Given the description of an element on the screen output the (x, y) to click on. 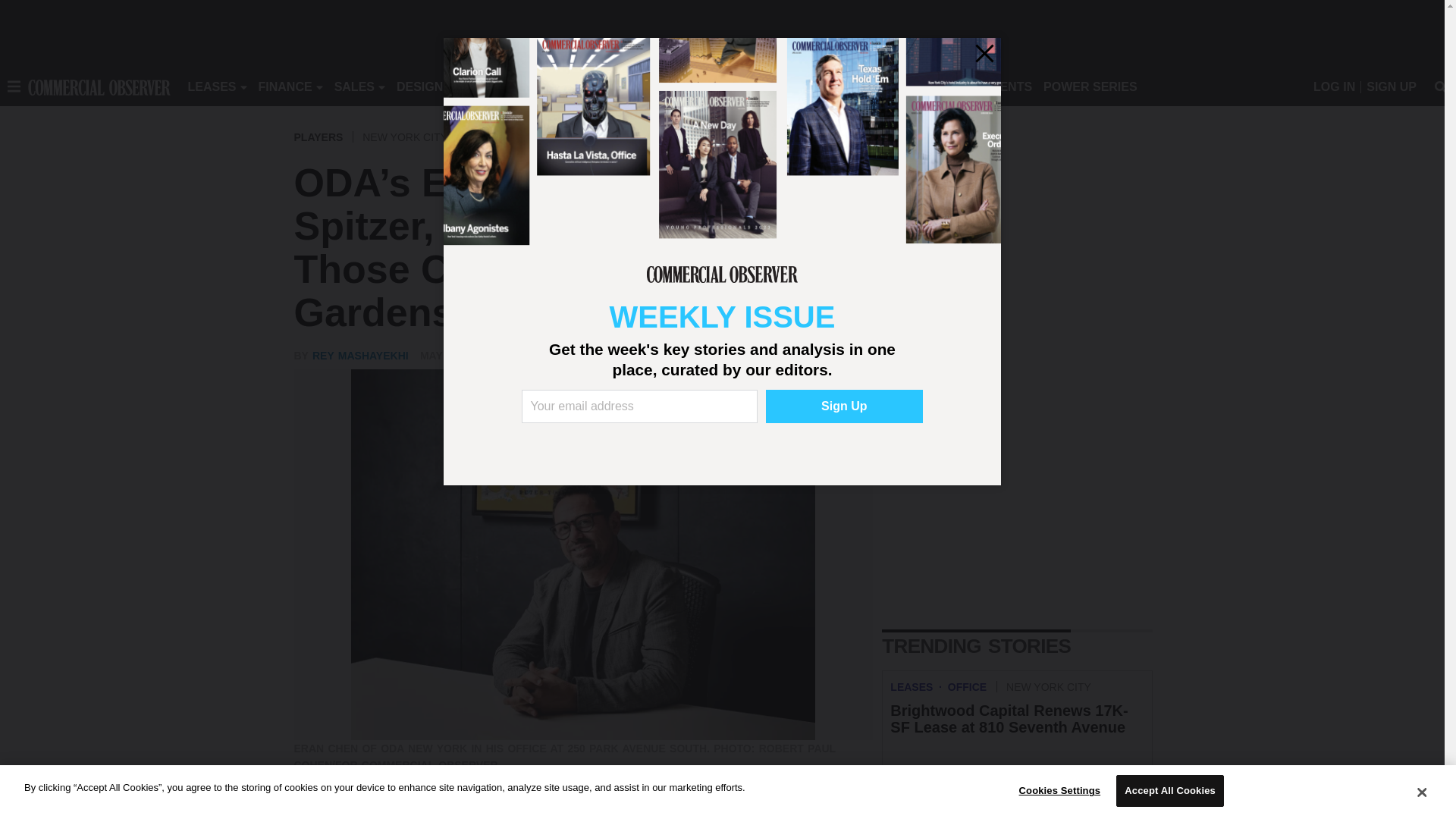
MORE (691, 86)
Send email (398, 812)
SALES (354, 86)
Share on Facebook (307, 812)
LEASES (211, 86)
Commercial Observer Home (98, 86)
Posts by Rey Mashayekhi (361, 355)
FINANCE (286, 86)
TECHNOLOGY (619, 86)
Share on LinkedIn (368, 812)
Tweet (338, 812)
